Given the description of an element on the screen output the (x, y) to click on. 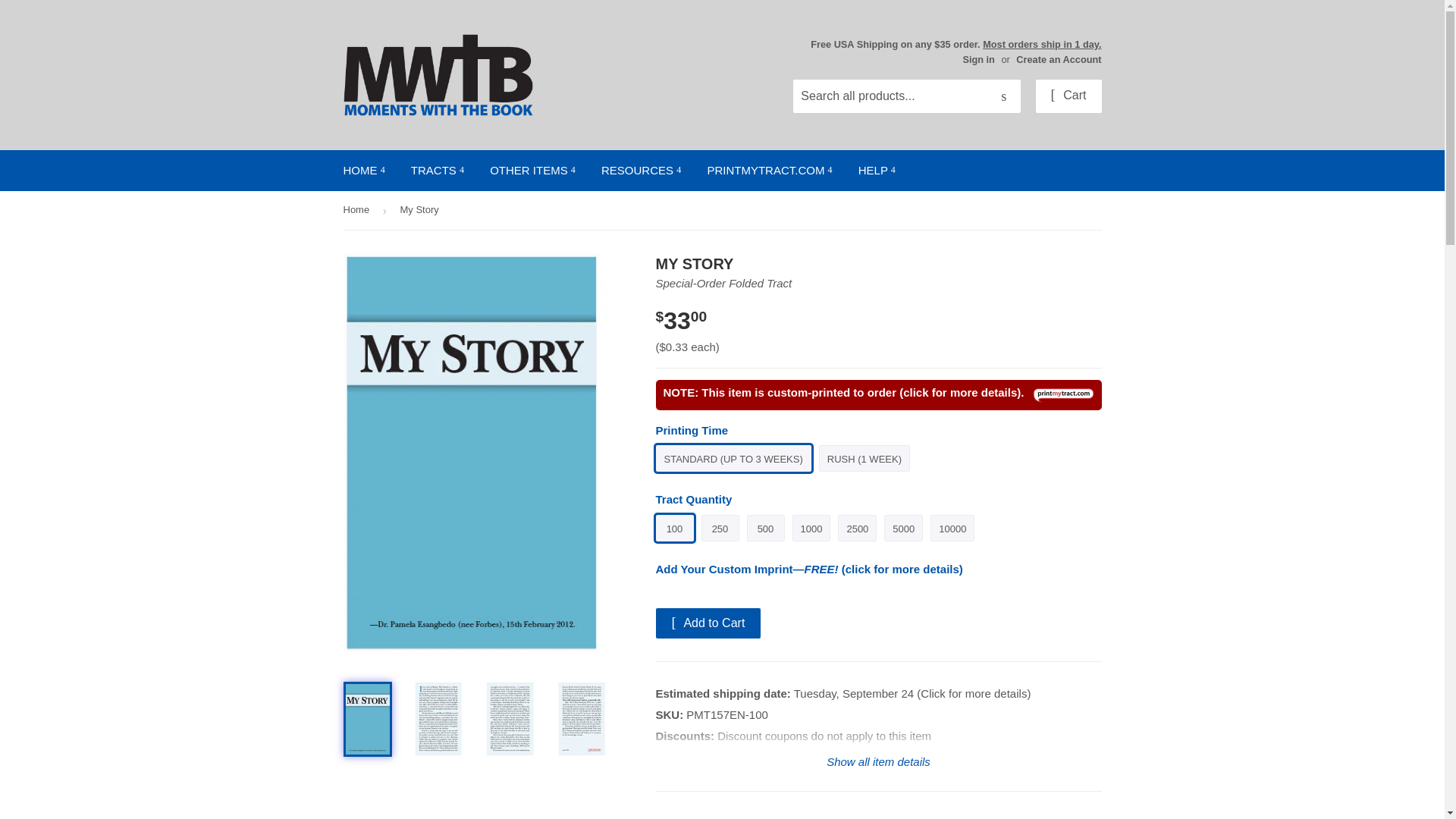
HOME (363, 169)
OTHER ITEMS (532, 169)
Sign in (978, 59)
RESOURCES (641, 169)
Create an Account (1058, 59)
Search (1003, 97)
Cart (1068, 96)
PRINTMYTRACT.COM (769, 169)
TRACTS (437, 169)
